Given the description of an element on the screen output the (x, y) to click on. 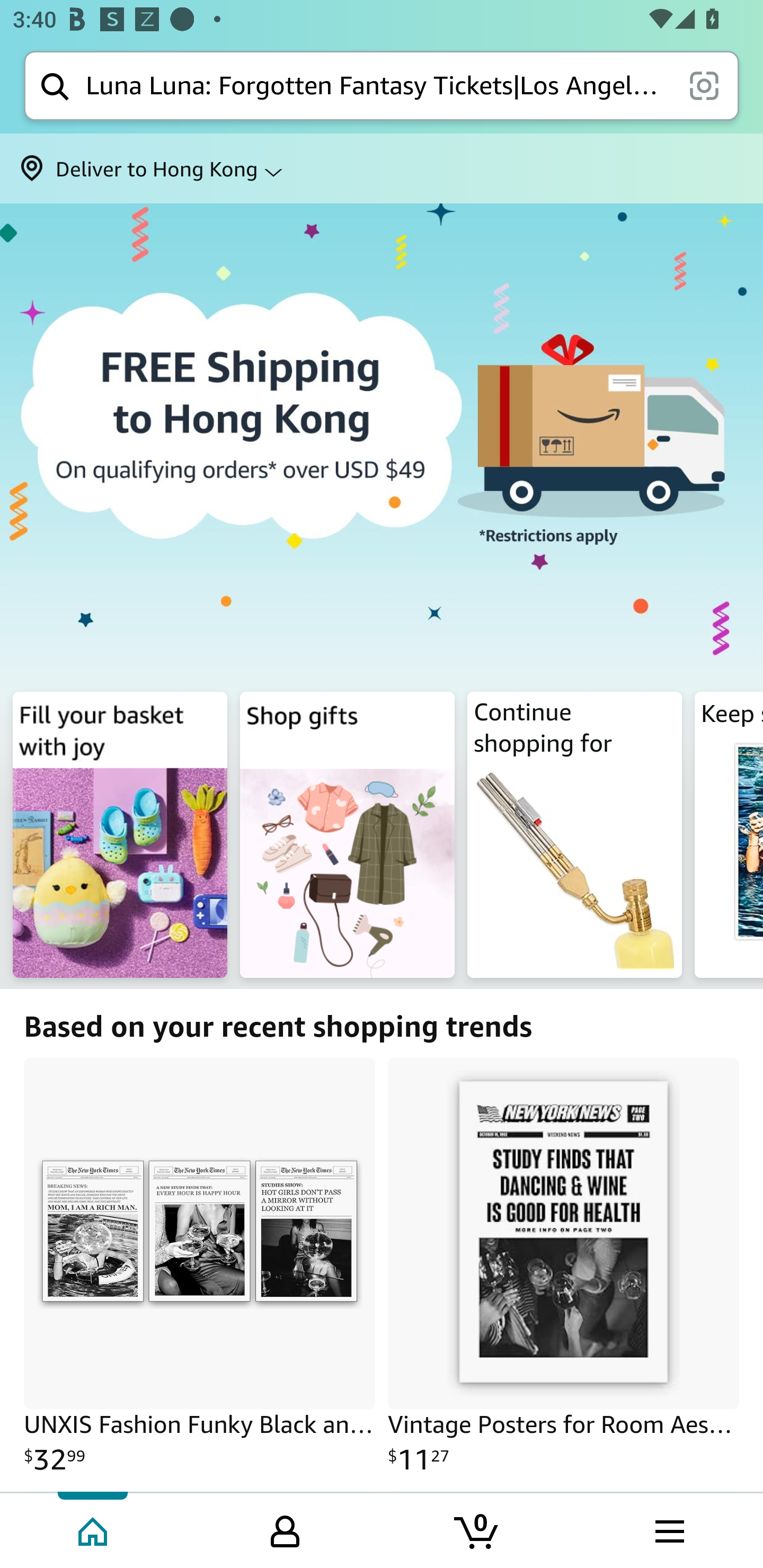
scan it (704, 85)
Deliver to Hong Kong ⌵ (381, 168)
Free shipping to Hong Kong (381, 444)
Home Tab 1 of 4 (94, 1529)
Your Amazon.com Tab 2 of 4 (285, 1529)
Cart 0 item Tab 3 of 4 0 (477, 1529)
Browse menu Tab 4 of 4 (668, 1529)
